Given the description of an element on the screen output the (x, y) to click on. 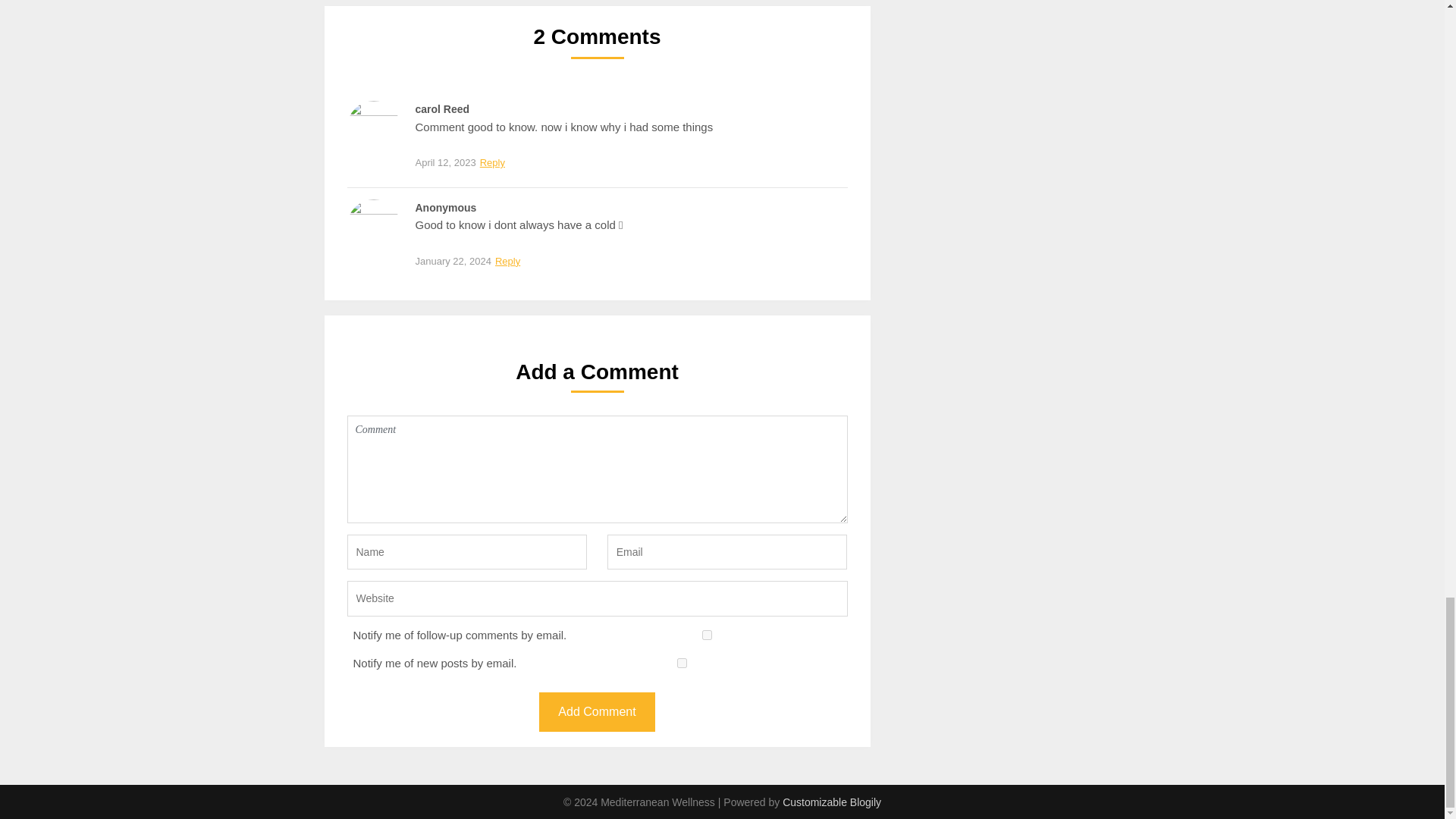
Reply (492, 162)
subscribe (706, 634)
Reply (508, 262)
Add Comment (595, 712)
subscribe (682, 663)
Add Comment (595, 712)
